Given the description of an element on the screen output the (x, y) to click on. 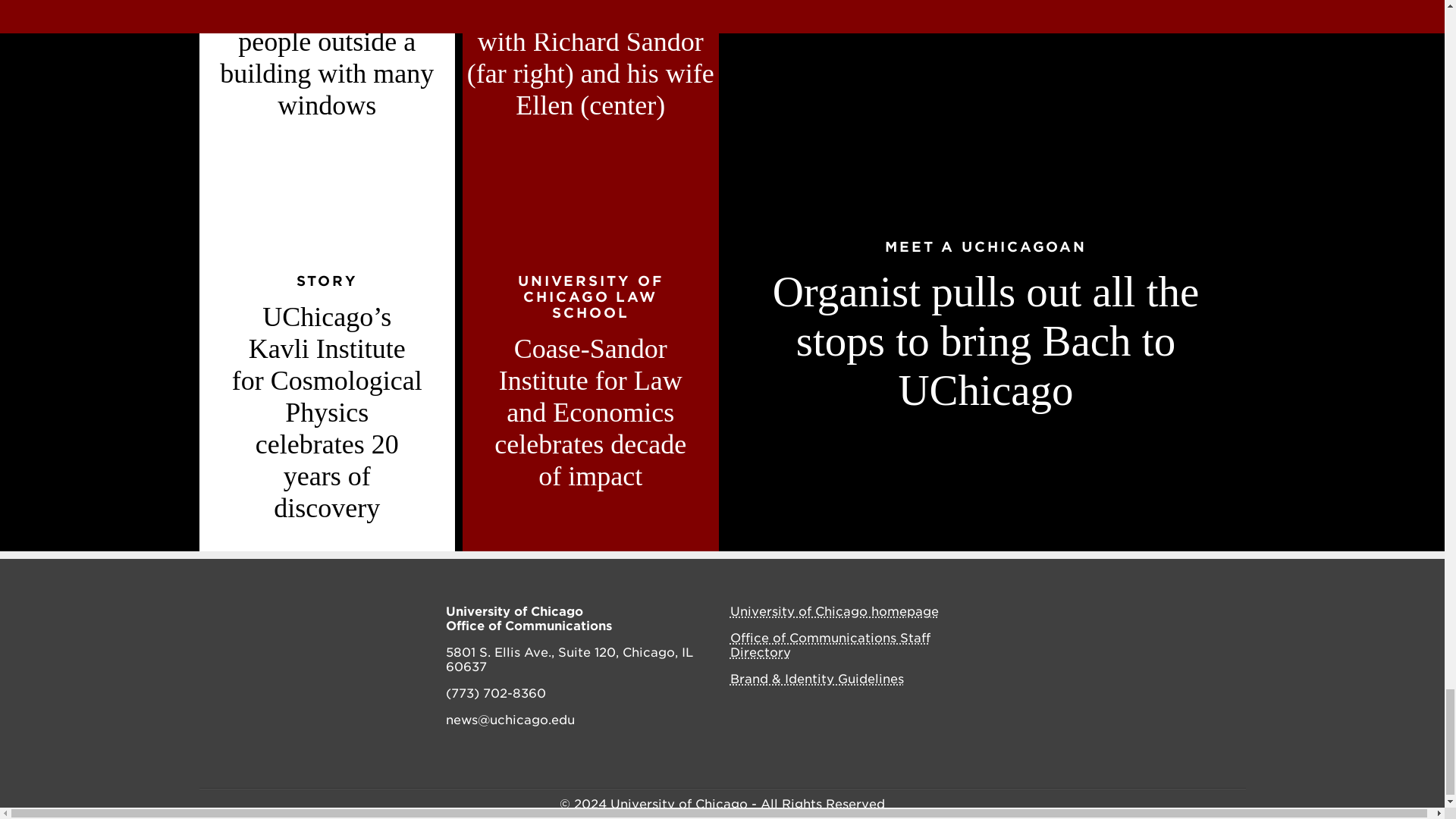
Connect with UChicago on Youtube (1214, 613)
Connect with UChicago on Facebook (1081, 613)
Connect with UChicago on Linkedin (1181, 613)
Connect with UChicago on Instagram (1112, 613)
Connect with UChicago on Twitter (1146, 613)
